Given the description of an element on the screen output the (x, y) to click on. 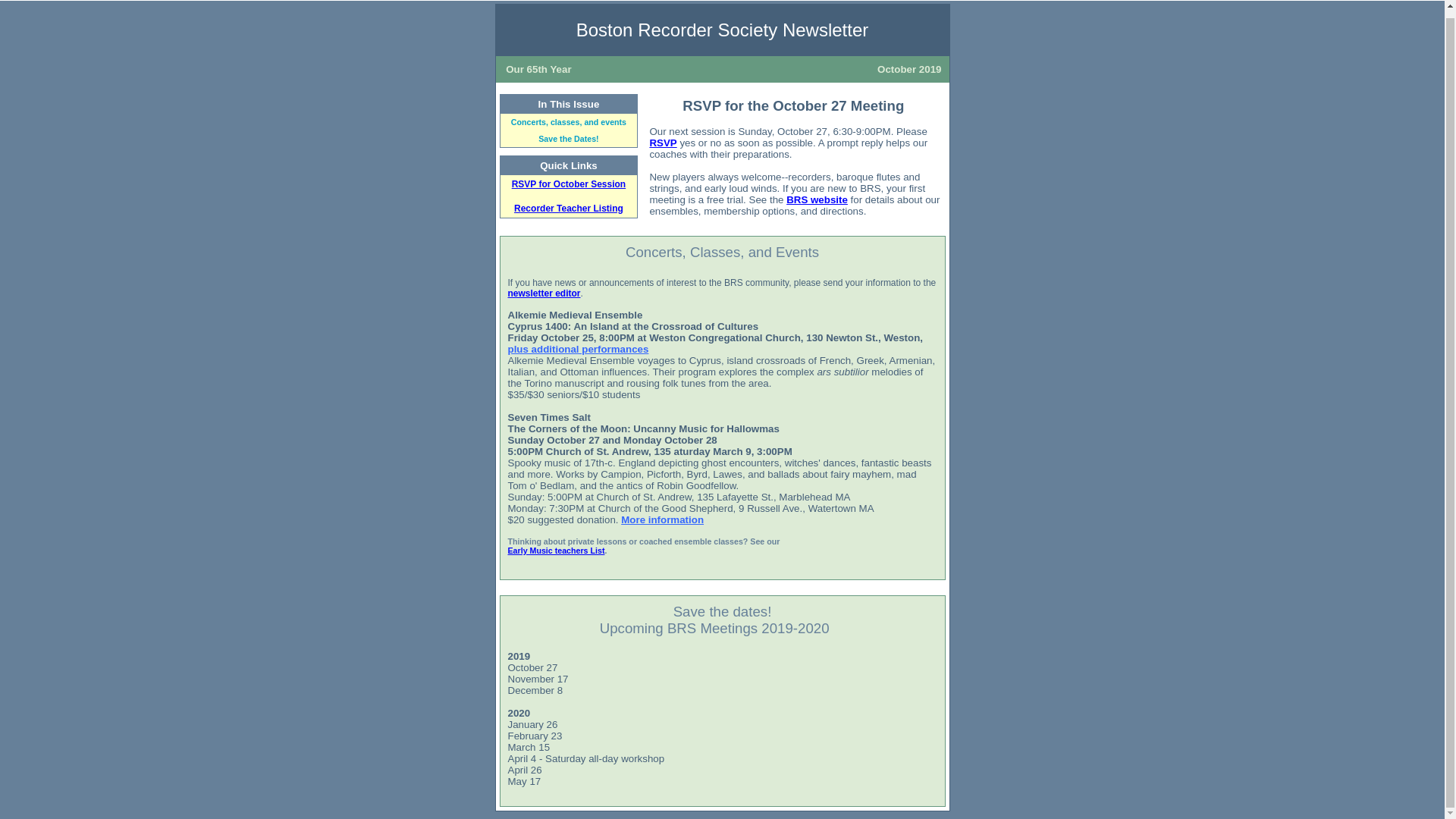
RSVP for October Session (569, 184)
More information (662, 519)
Early Music teachers List (556, 550)
plus additional performances (578, 348)
RSVP (663, 142)
Concerts, classes, and events (568, 121)
newsletter editor (544, 293)
Save the Dates! (568, 138)
BRS website (816, 199)
Recorder Teacher Listing (568, 208)
